Given the description of an element on the screen output the (x, y) to click on. 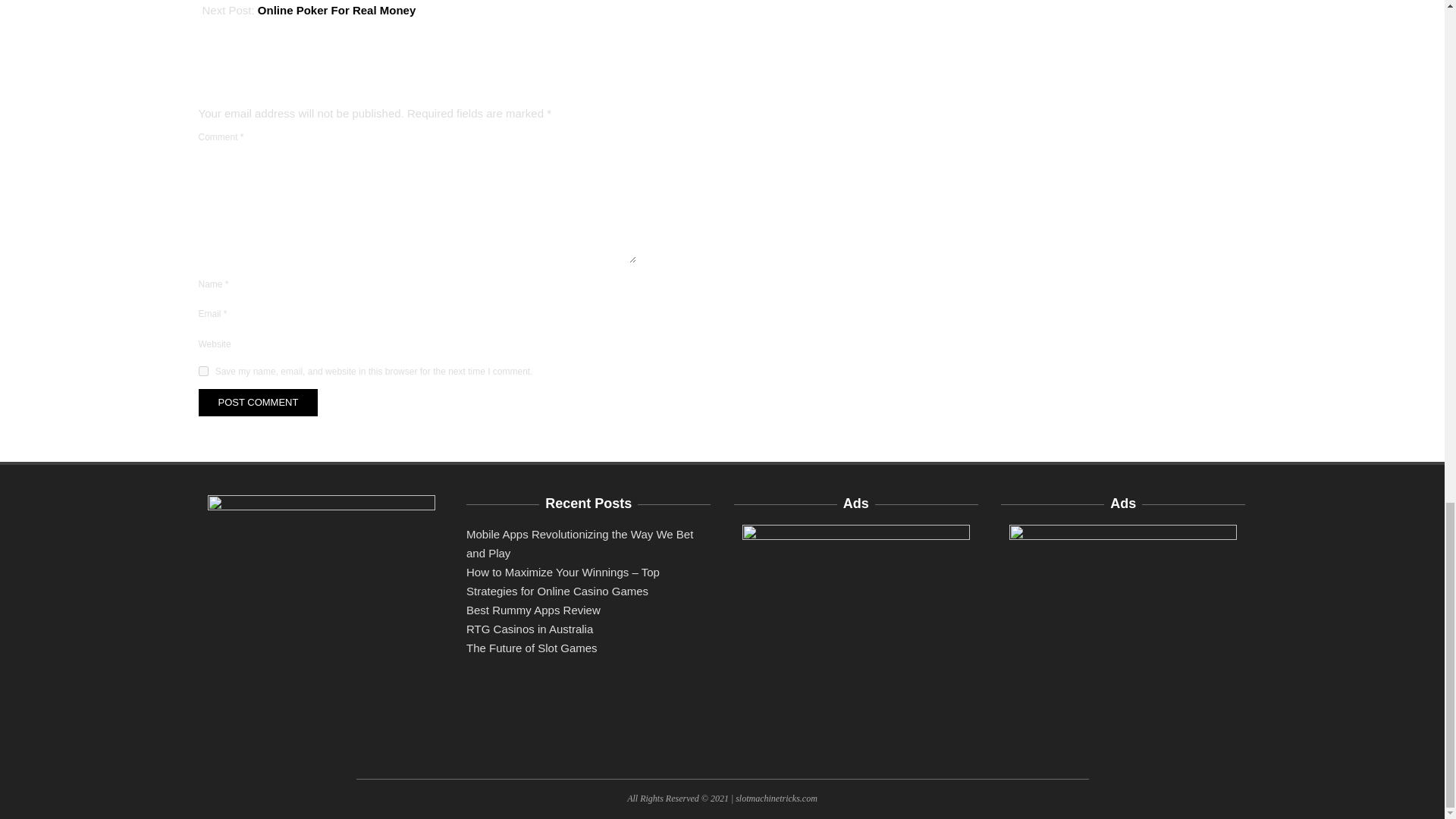
Post Comment (258, 402)
yes (203, 370)
Post Comment (258, 402)
Online Poker For Real Money (335, 10)
